Given the description of an element on the screen output the (x, y) to click on. 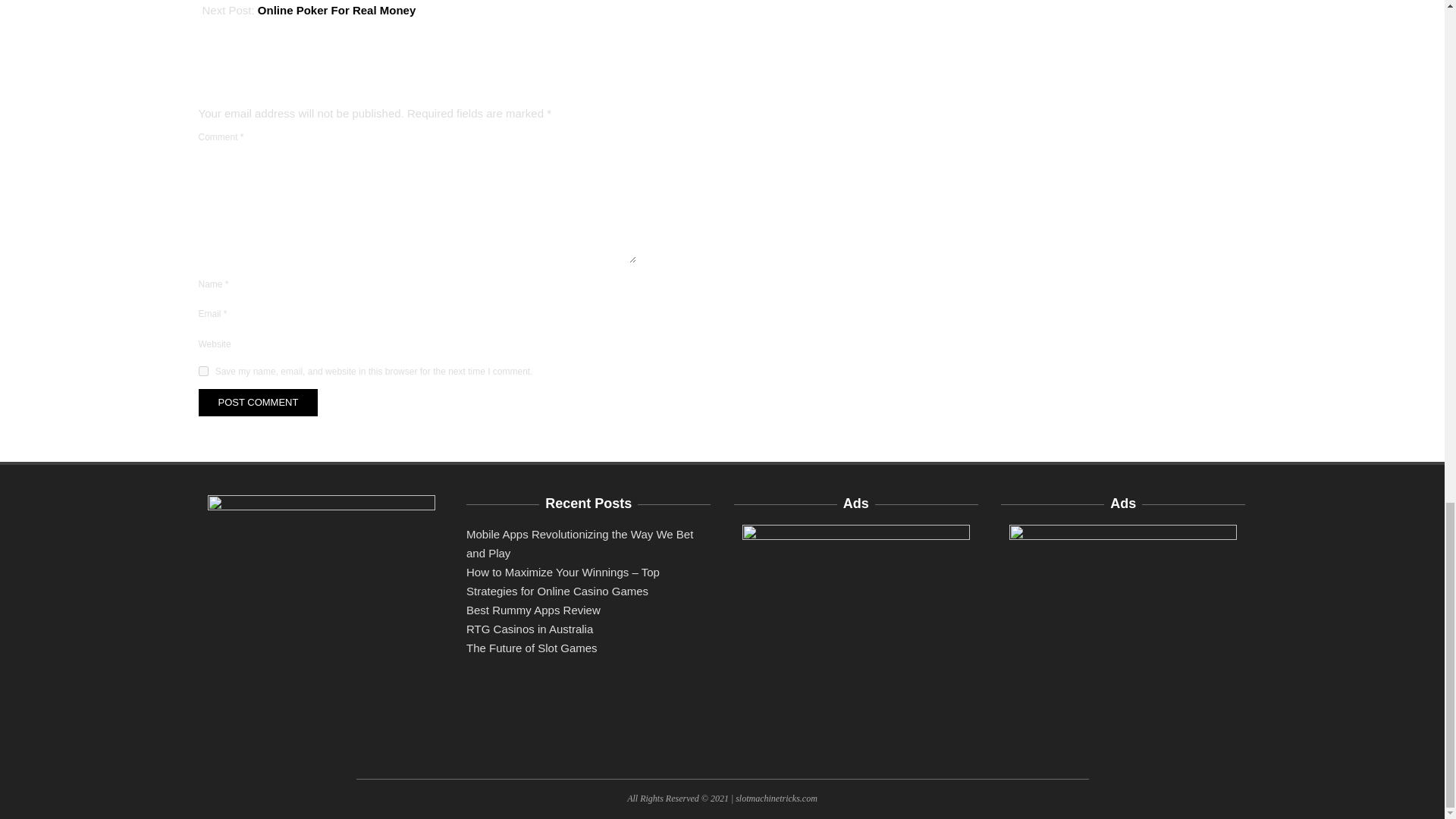
Post Comment (258, 402)
yes (203, 370)
Post Comment (258, 402)
Online Poker For Real Money (335, 10)
